Given the description of an element on the screen output the (x, y) to click on. 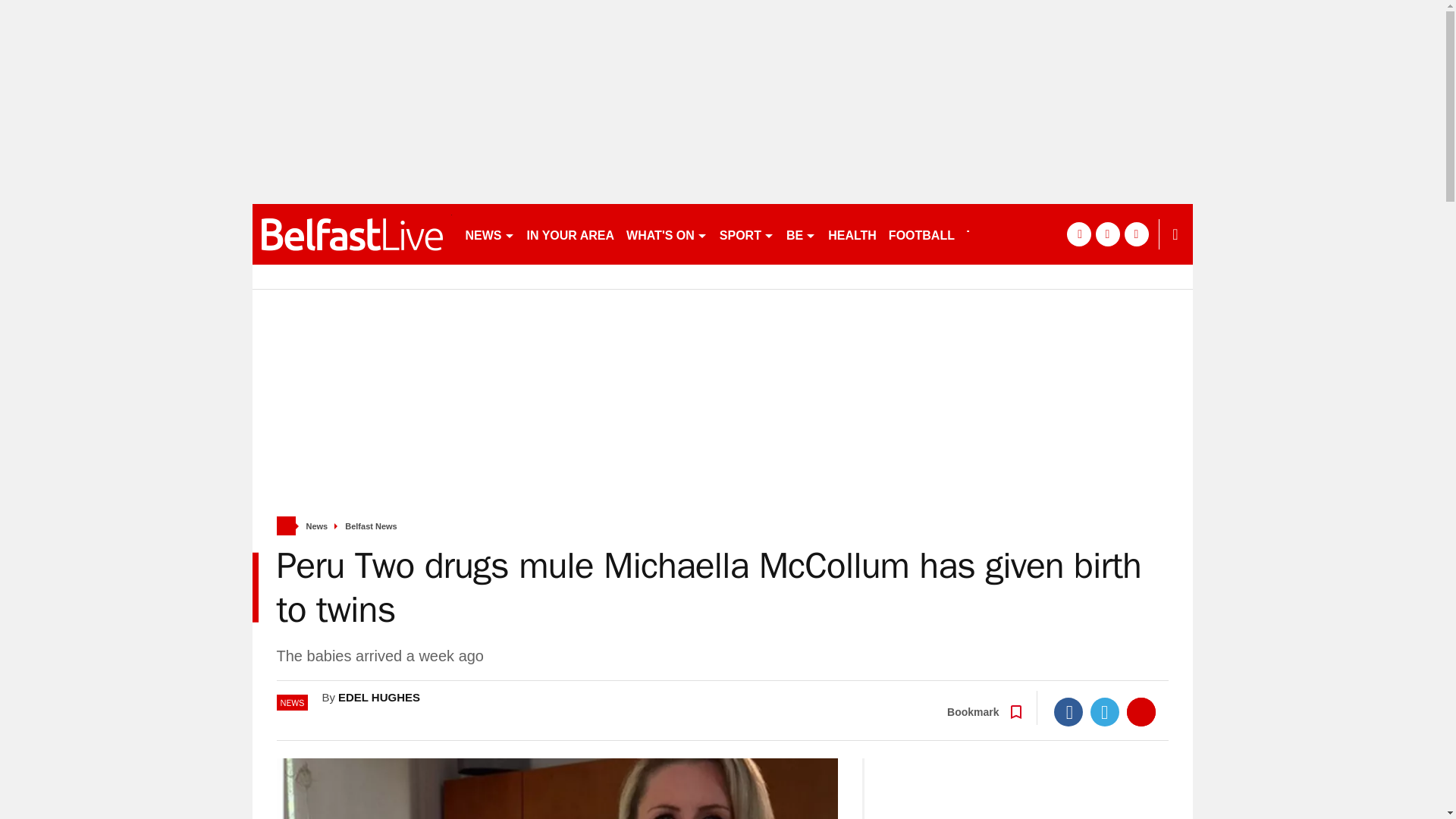
NEWS (490, 233)
facebook (1077, 233)
WHAT'S ON (666, 233)
instagram (1136, 233)
SPORT (746, 233)
Twitter (1104, 711)
twitter (1106, 233)
Facebook (1068, 711)
IN YOUR AREA (569, 233)
belfastlive (351, 233)
